Given the description of an element on the screen output the (x, y) to click on. 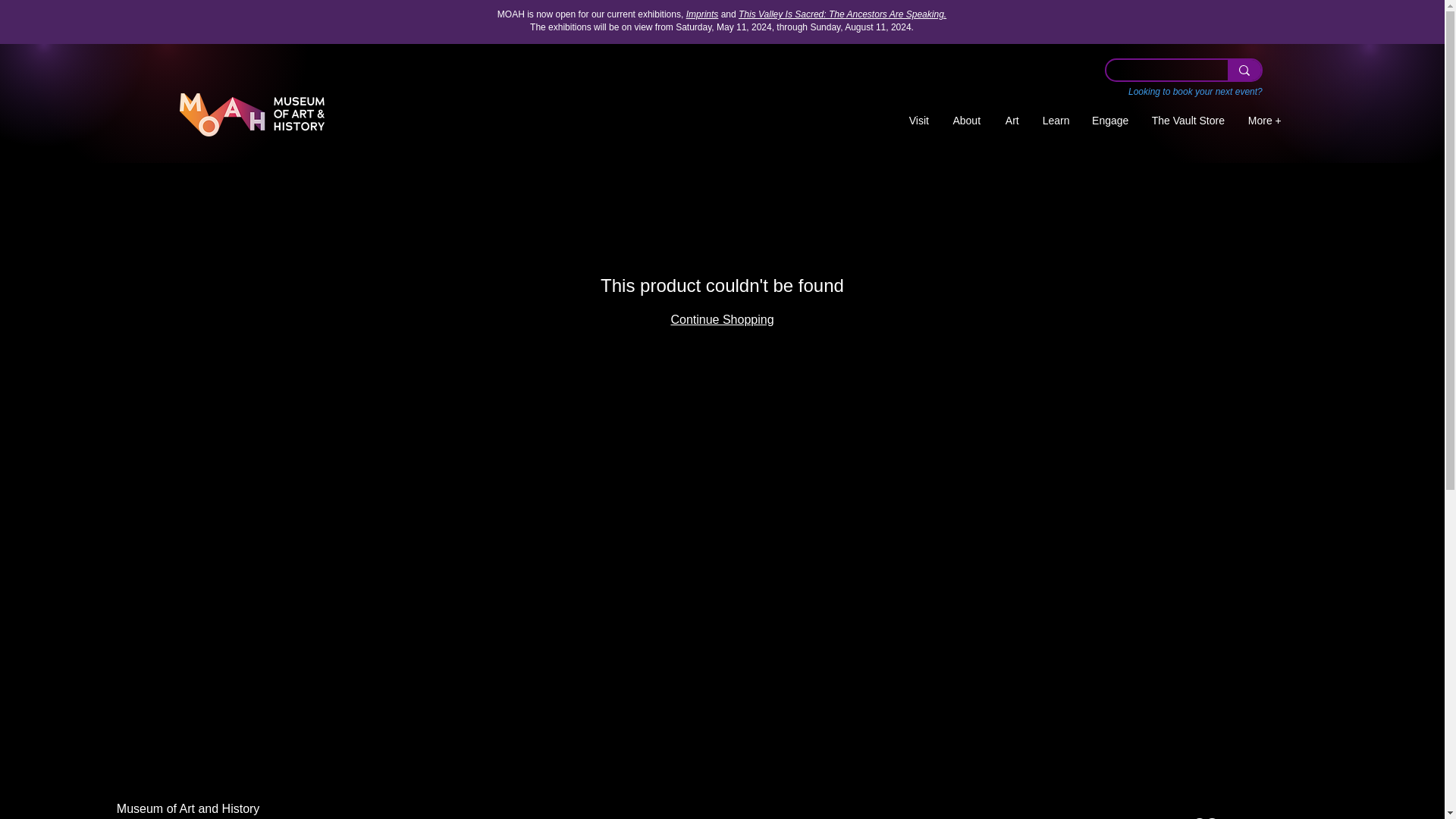
Looking to book your next event? (1195, 91)
Visit (919, 120)
About (966, 120)
This Valley Is Sacred: The Ancestors Are Speaking. (842, 14)
Imprints (702, 14)
The Vault Store (1188, 120)
